Given the description of an element on the screen output the (x, y) to click on. 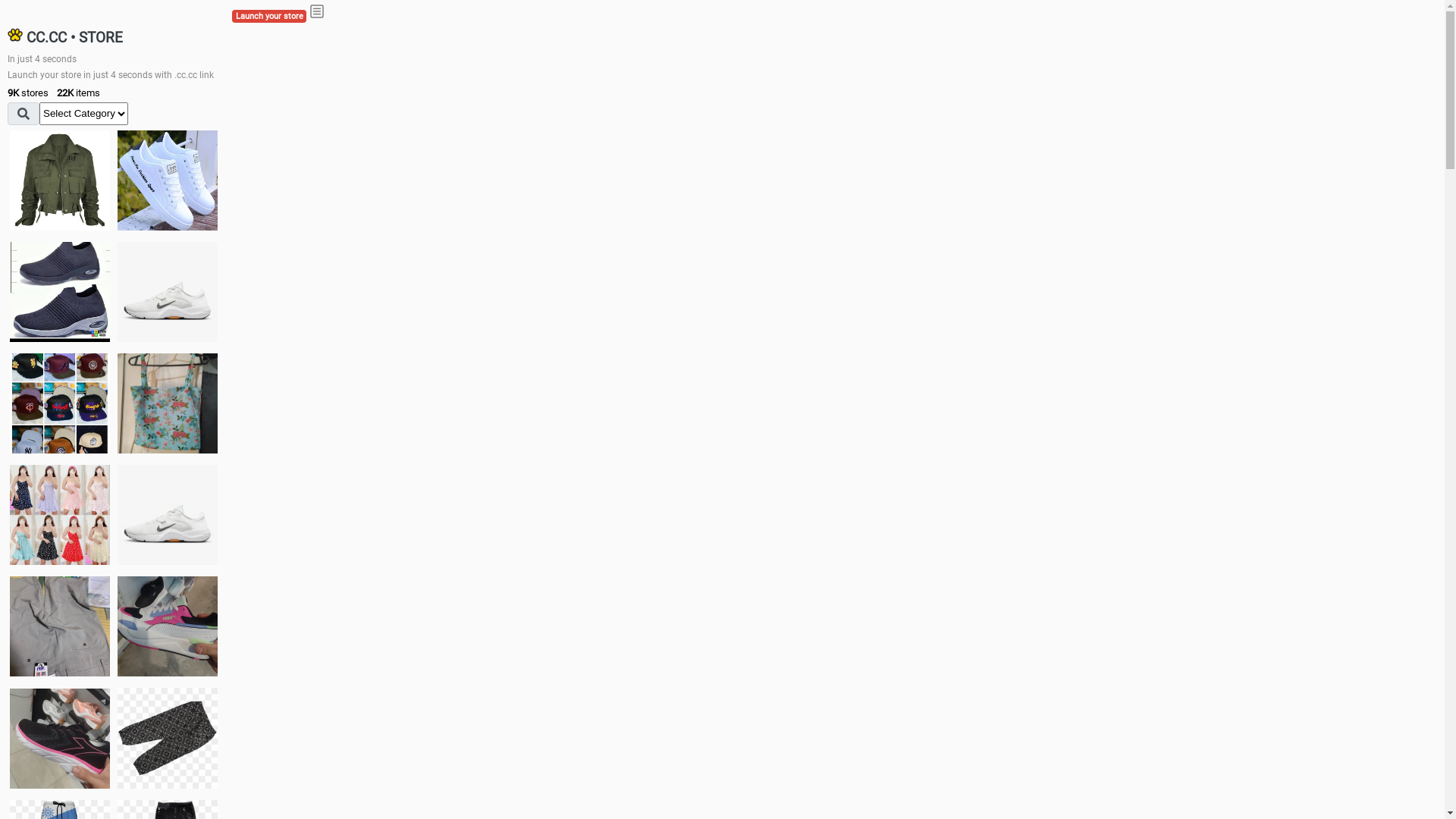
Things we need Element type: hover (59, 403)
jacket Element type: hover (59, 180)
Zapatillas pumas Element type: hover (167, 626)
Dress/square nect top Element type: hover (59, 514)
Shoes for boys Element type: hover (167, 291)
Launch your store Element type: text (269, 15)
Shoes Element type: hover (167, 514)
Ukay cloth Element type: hover (167, 403)
shoes for boys Element type: hover (59, 291)
white shoes Element type: hover (167, 180)
Zapatillas Element type: hover (59, 738)
Short pant Element type: hover (167, 737)
